Given the description of an element on the screen output the (x, y) to click on. 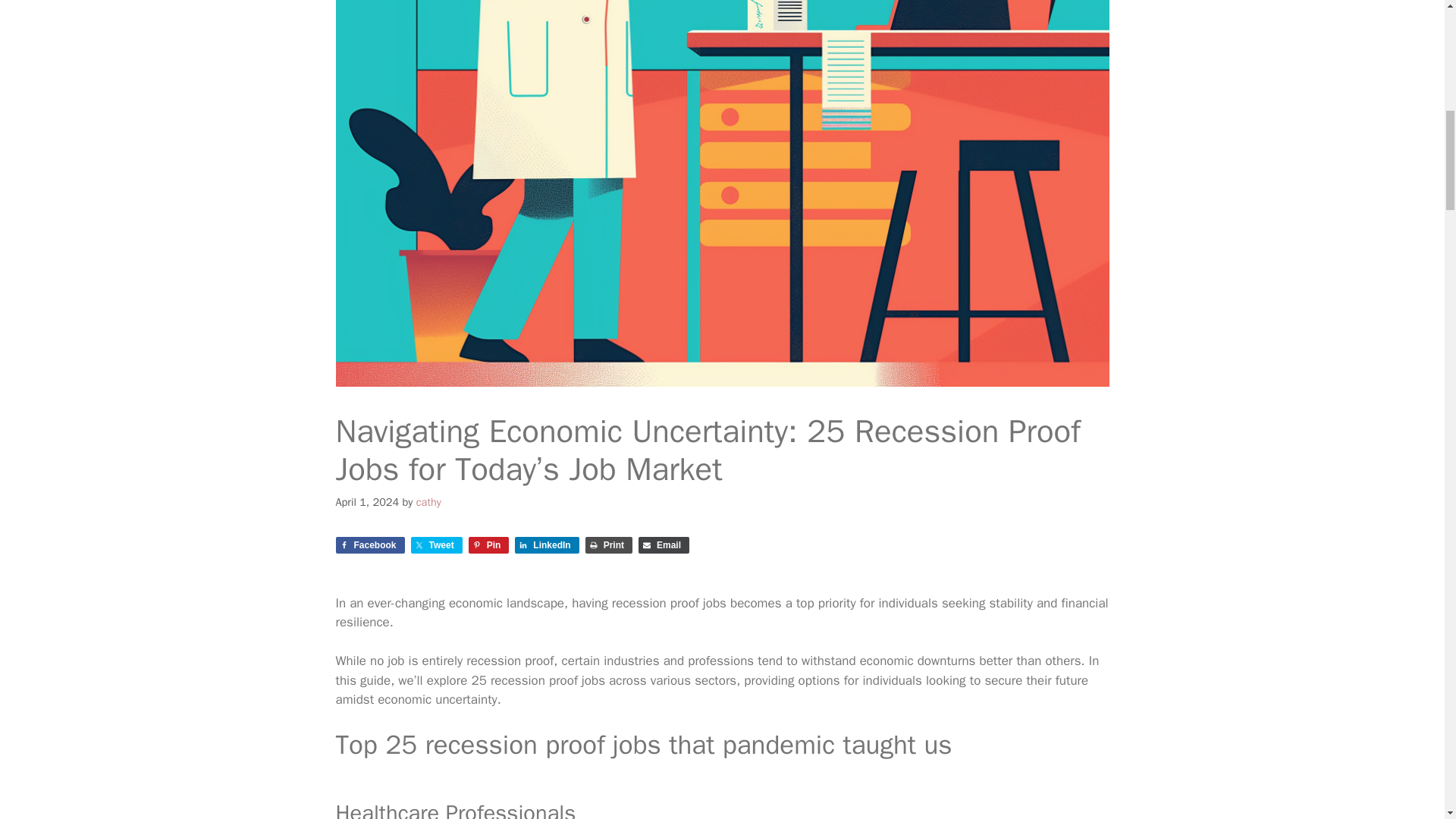
Pin (488, 545)
Share on Twitter (436, 545)
Email (663, 545)
Share via Email (663, 545)
Share on LinkedIn (546, 545)
Share on Facebook (369, 545)
Print (608, 545)
Share on Pinterest (488, 545)
View all posts by cathy (428, 501)
Facebook (369, 545)
